Given the description of an element on the screen output the (x, y) to click on. 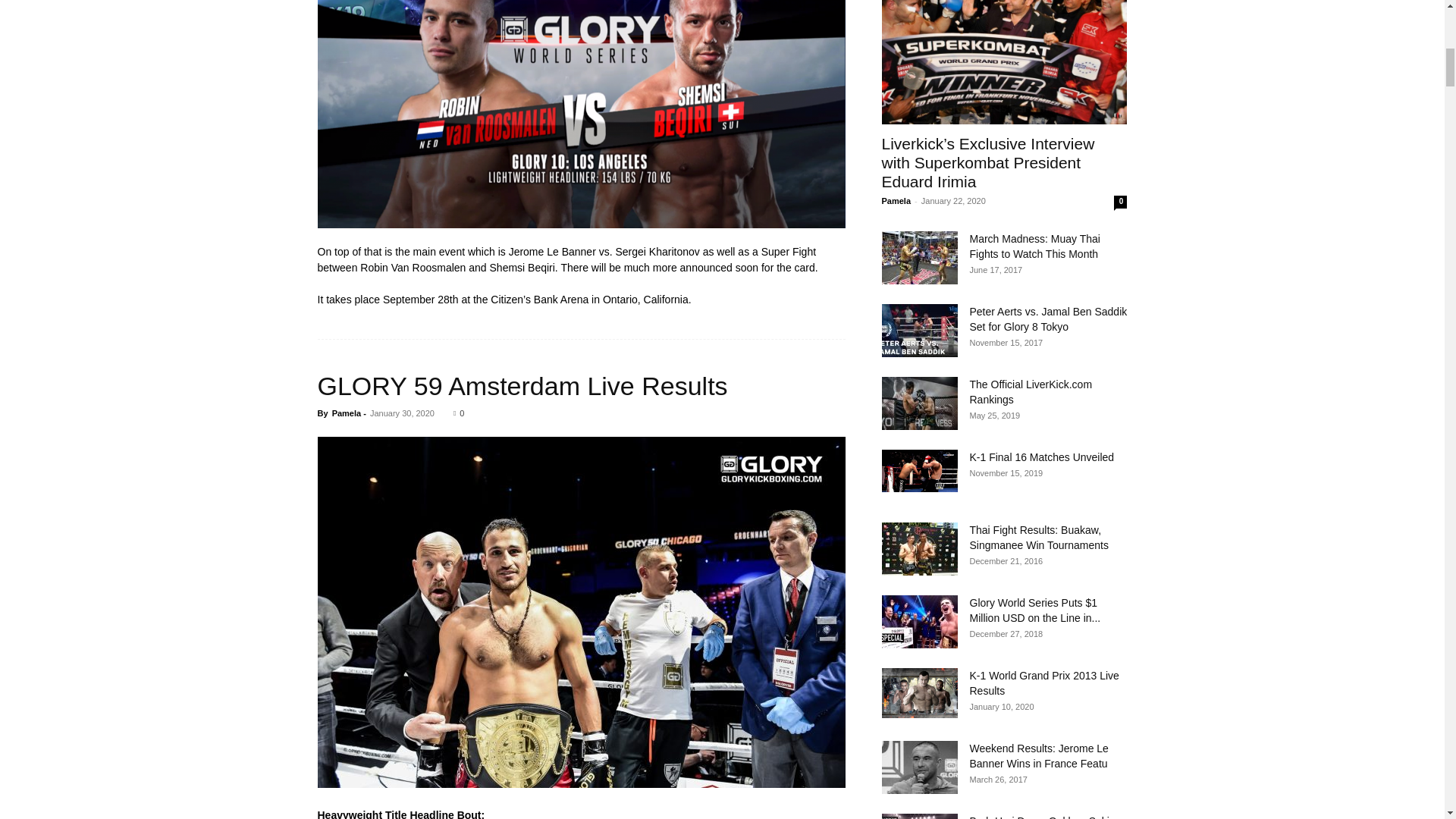
0 (458, 412)
Pamela (346, 412)
GLORY 59 Amsterdam Live Results (521, 385)
GLORY 59 Amsterdam Live Results (521, 385)
